Given the description of an element on the screen output the (x, y) to click on. 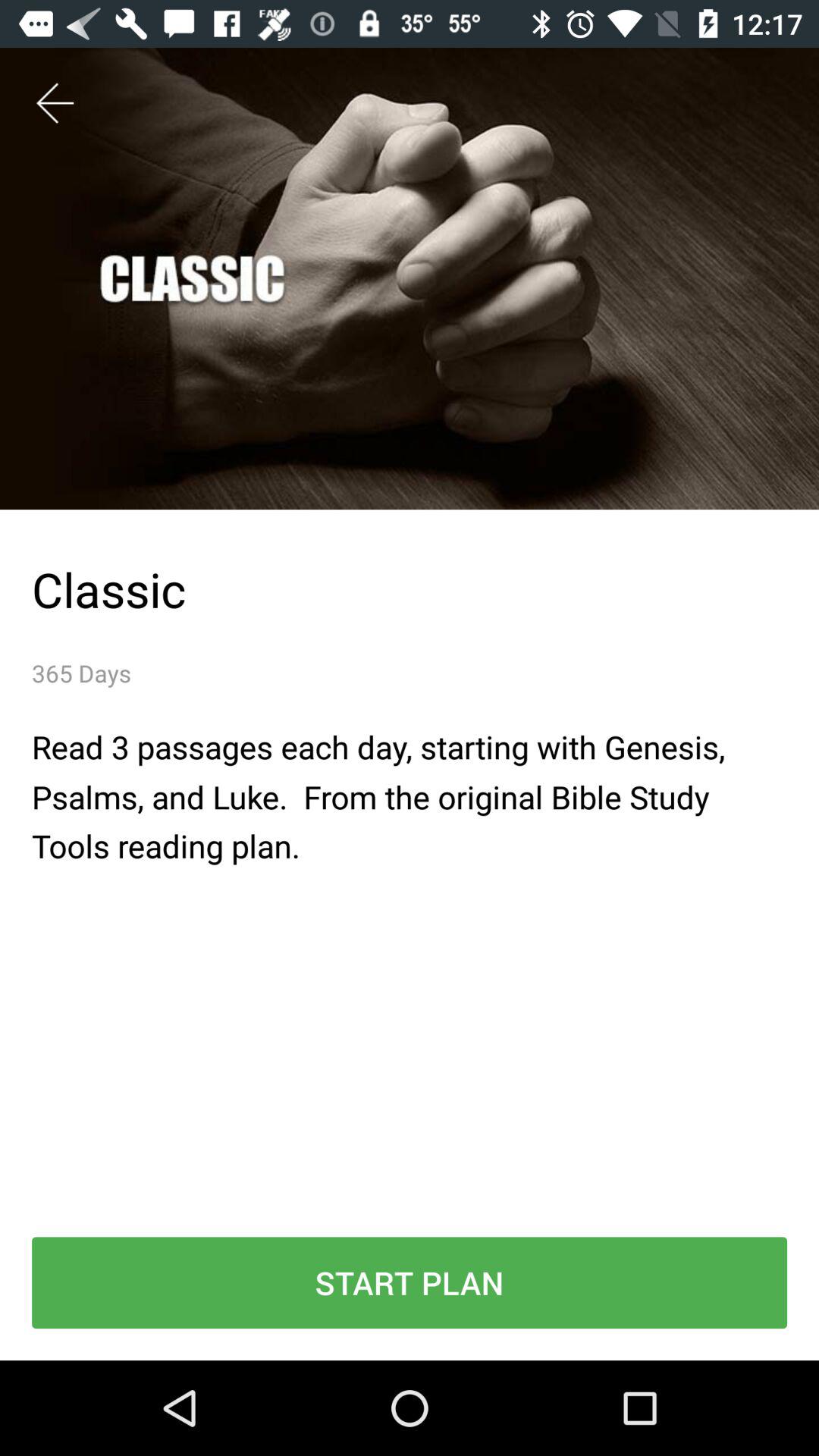
choose the item at the top left corner (55, 103)
